Given the description of an element on the screen output the (x, y) to click on. 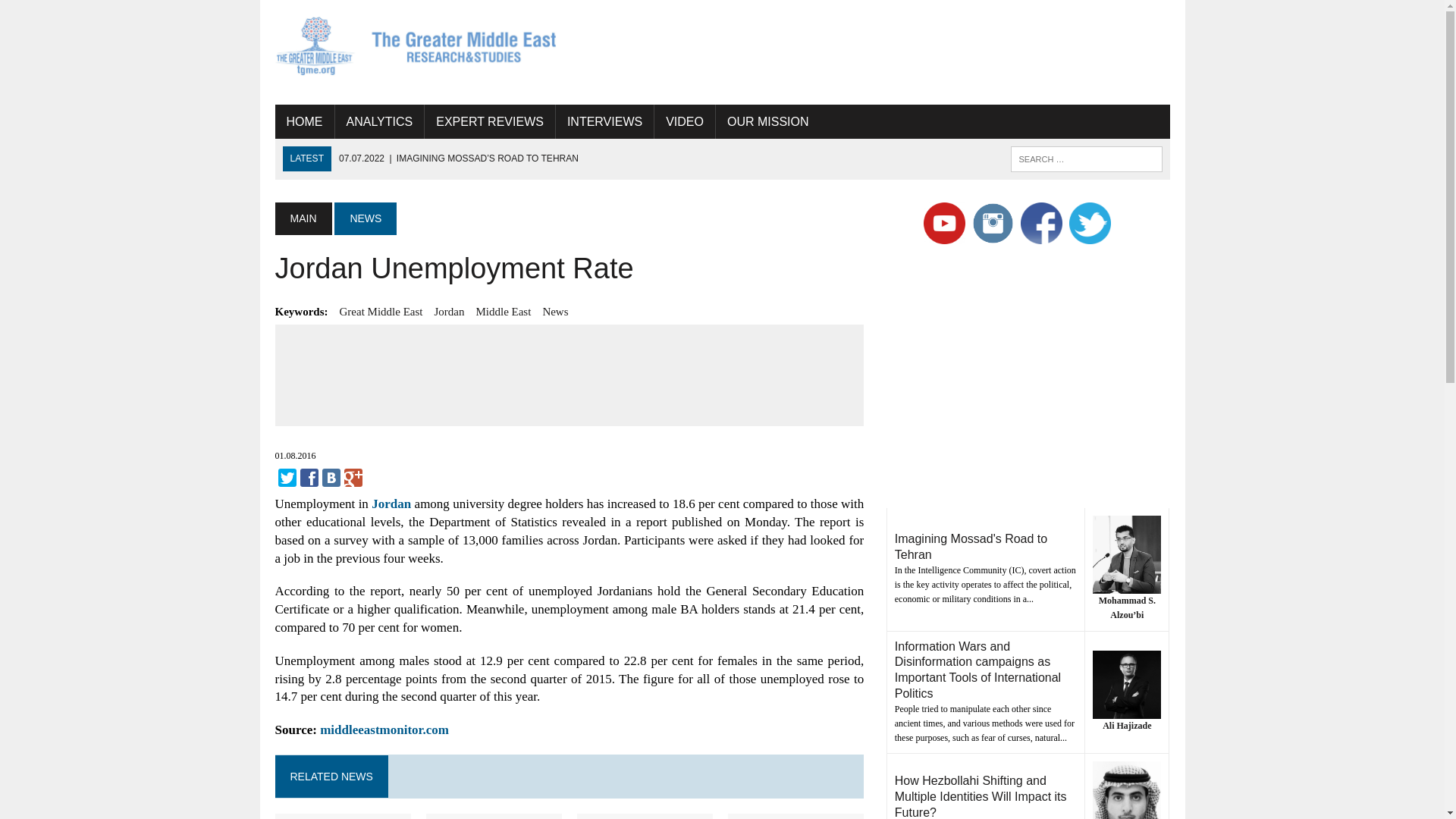
Facebook (308, 477)
HOME (304, 121)
Great Middle East (381, 311)
Advertisement (893, 49)
INTERVIEWS (604, 121)
Google Plus (352, 477)
ANALYTICS (379, 121)
VIDEO (683, 121)
NEWS (365, 218)
MAIN (303, 218)
